Given the description of an element on the screen output the (x, y) to click on. 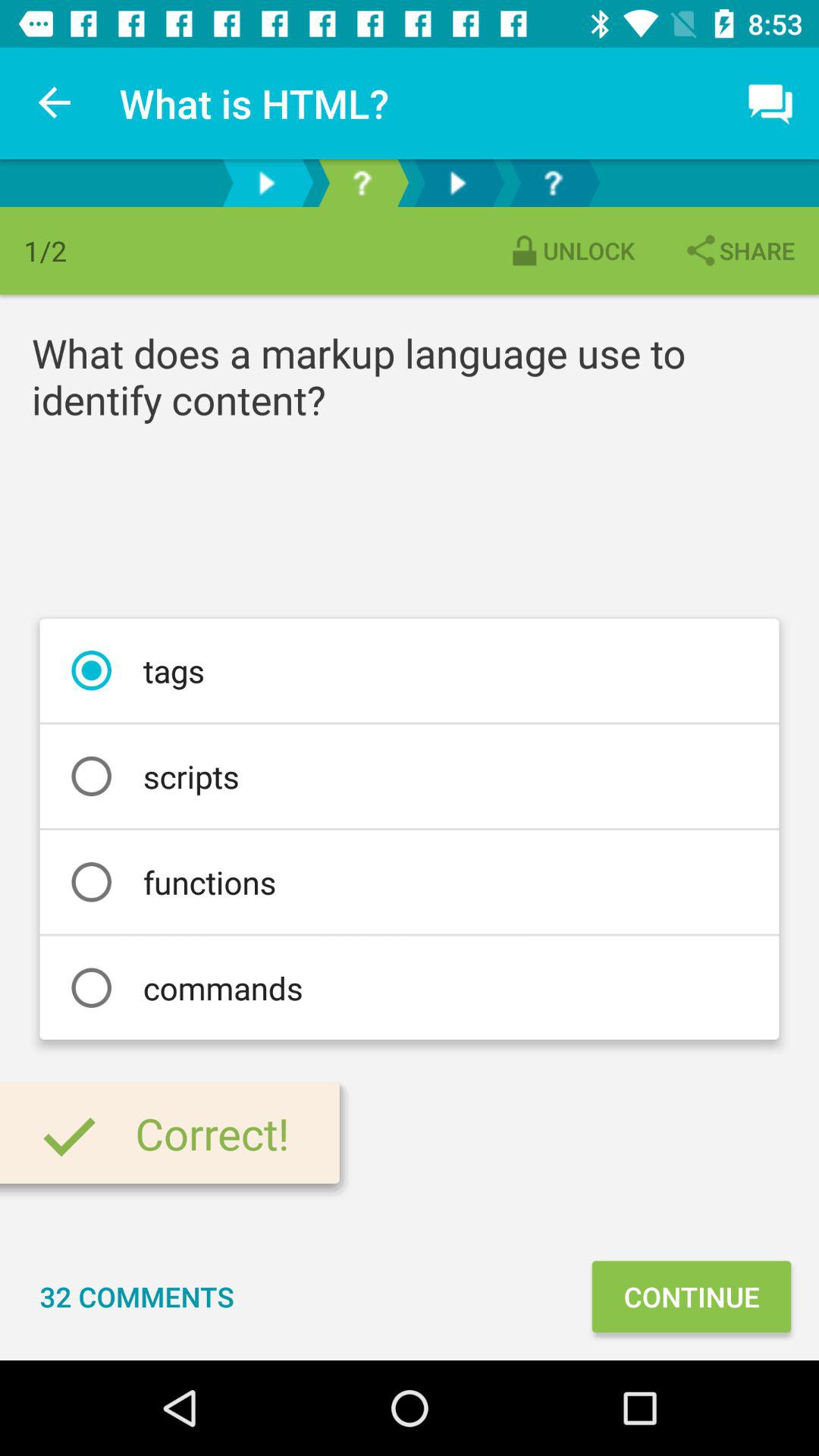
go to question 2 (552, 183)
